Given the description of an element on the screen output the (x, y) to click on. 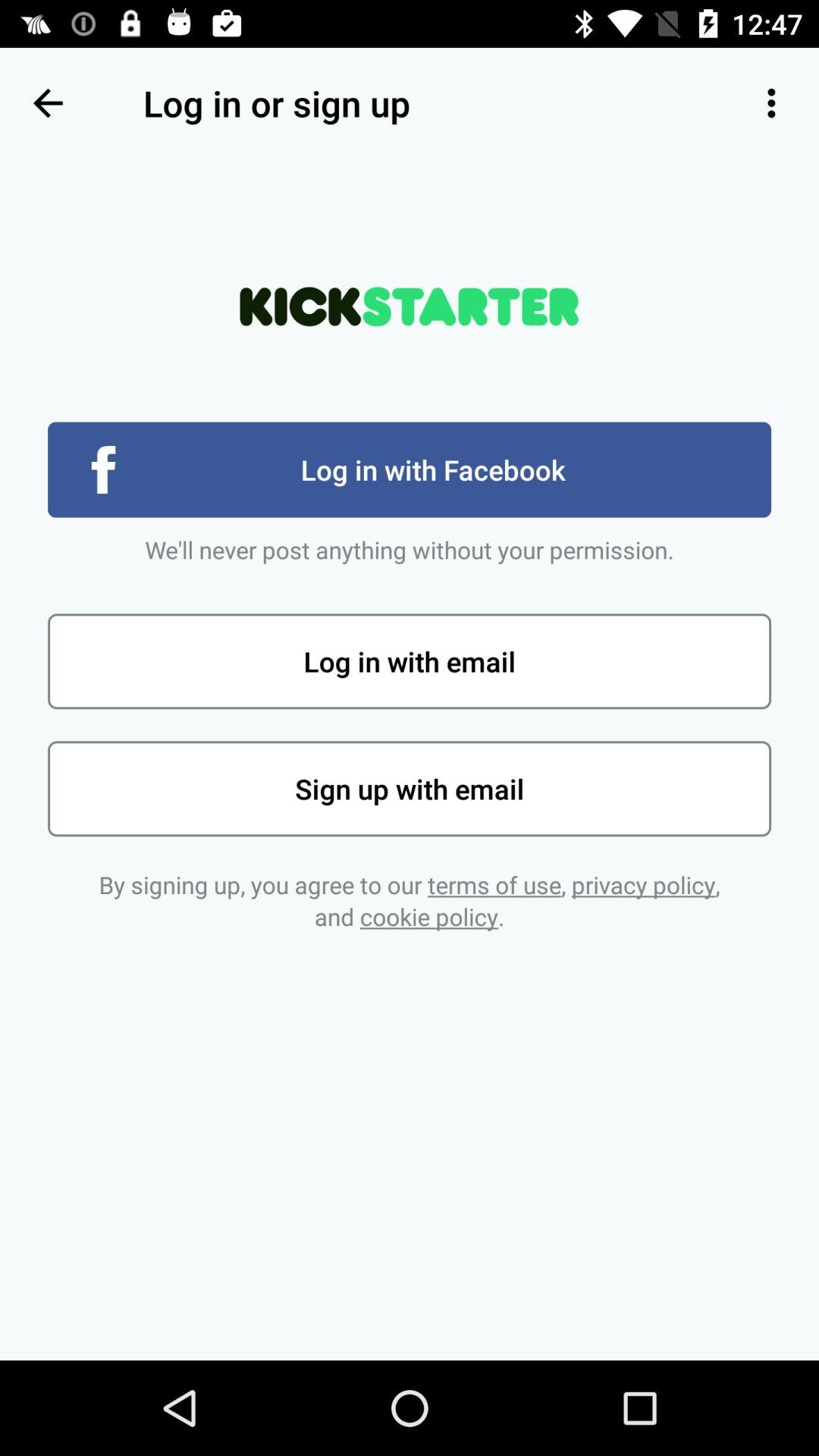
turn on item above the log in with item (771, 103)
